Given the description of an element on the screen output the (x, y) to click on. 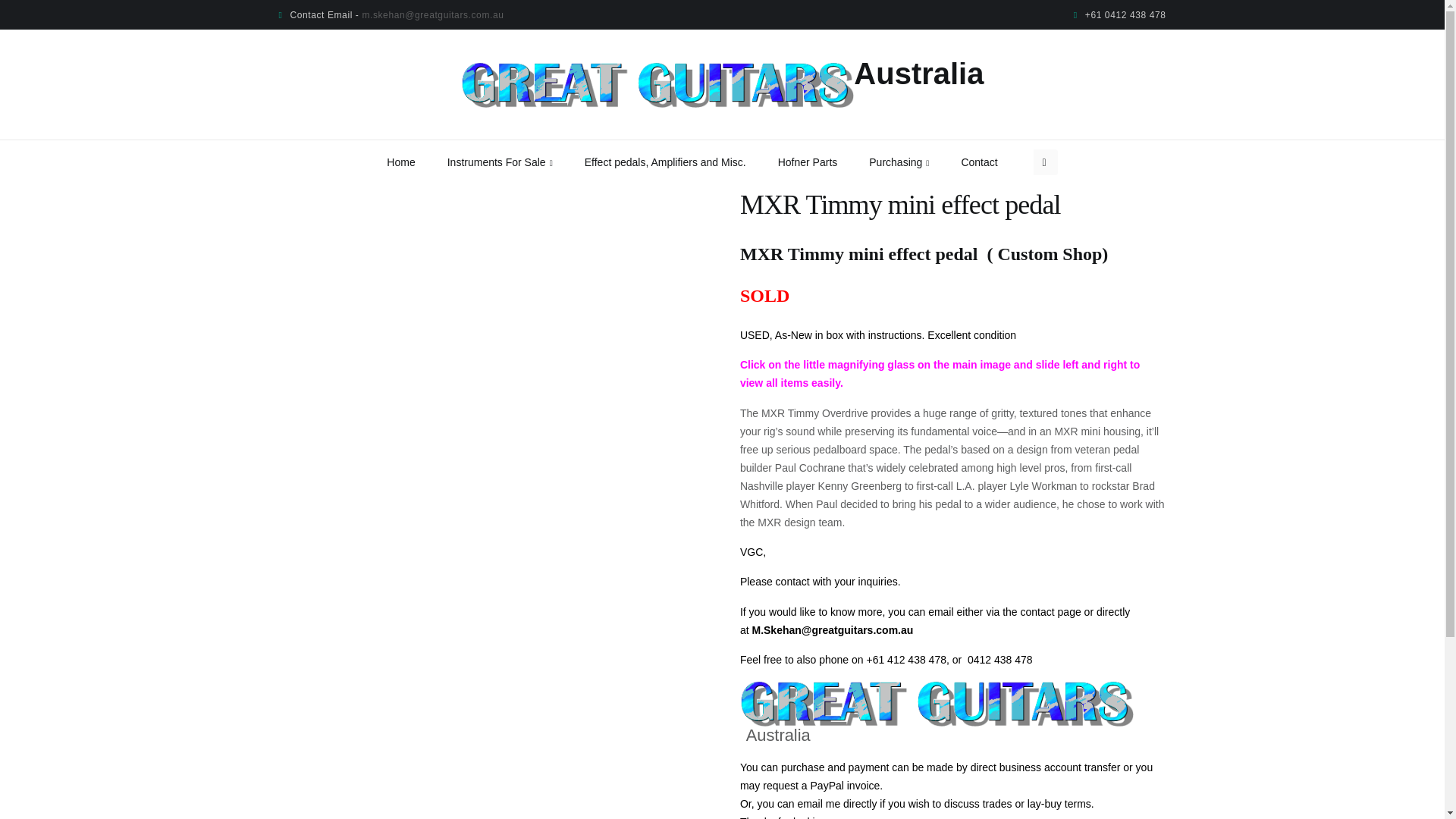
Instruments For Sale (515, 162)
Home (416, 162)
Open search (1045, 162)
Purchasing (914, 162)
Effect pedals, Amplifiers and Misc. (681, 162)
Hofner Parts (823, 162)
Australia (722, 84)
Contact (994, 162)
